Given the description of an element on the screen output the (x, y) to click on. 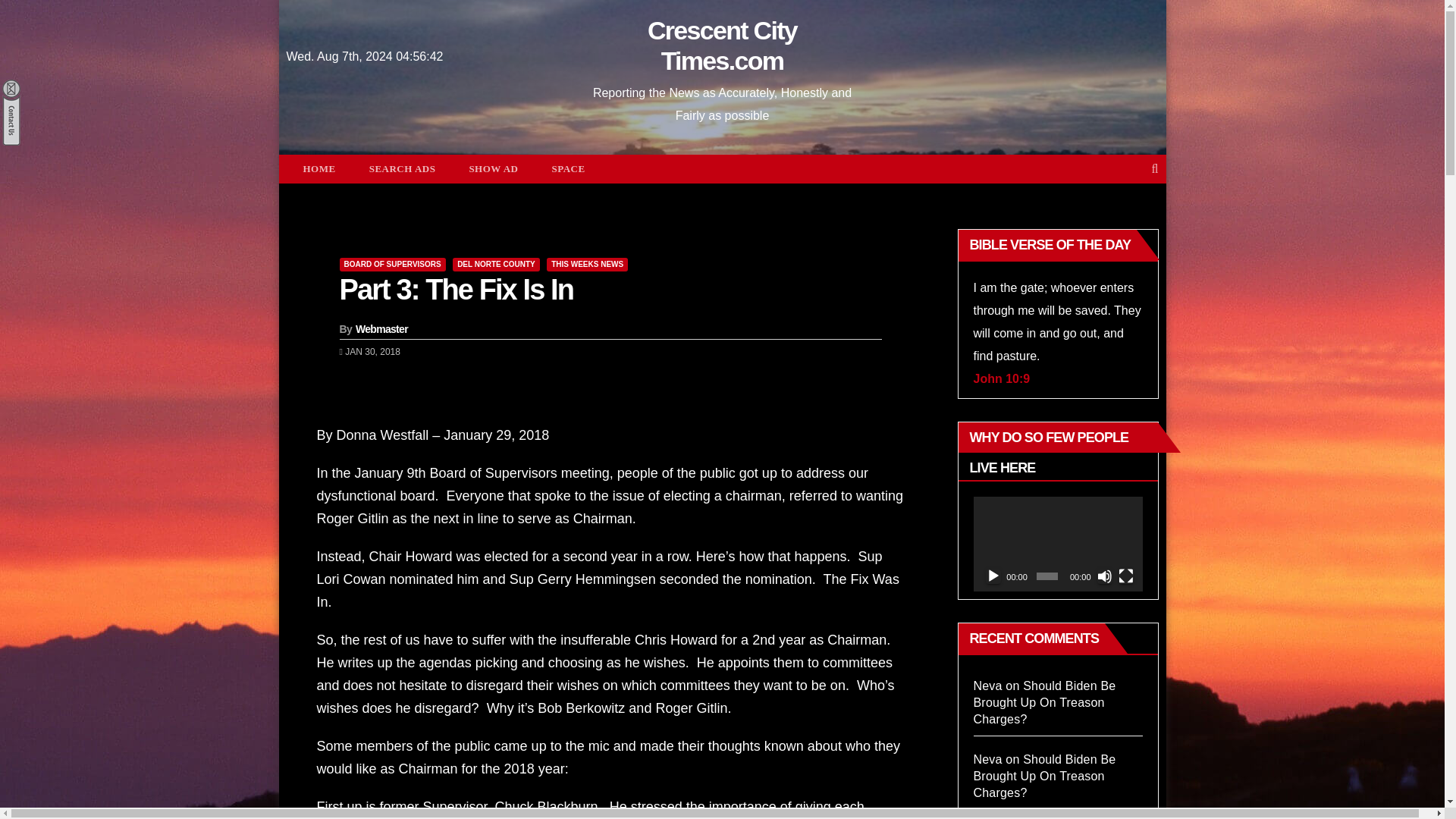
Home (319, 168)
Crescent City Times.com (721, 45)
Permalink to: Part 3:  The Fix Is In (456, 289)
Webmaster (381, 328)
BOARD OF SUPERVISORS (392, 264)
THIS WEEKS NEWS (587, 264)
HOME (319, 168)
DEL NORTE COUNTY (496, 264)
SPACE (567, 168)
Part 3: The Fix Is In (456, 289)
